Given the description of an element on the screen output the (x, y) to click on. 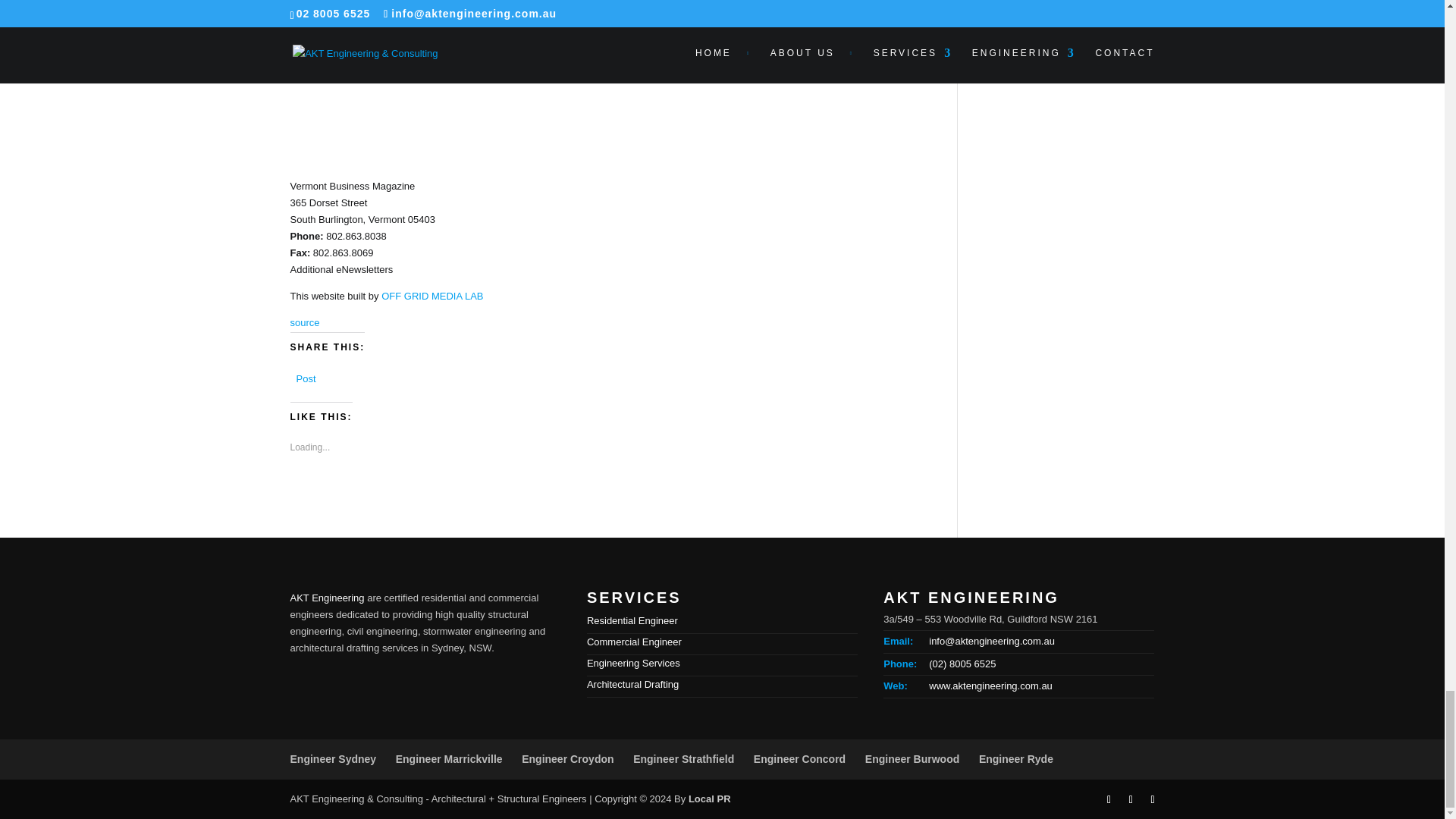
source (303, 322)
Post (305, 376)
OFF GRID MEDIA LAB (432, 296)
